Given the description of an element on the screen output the (x, y) to click on. 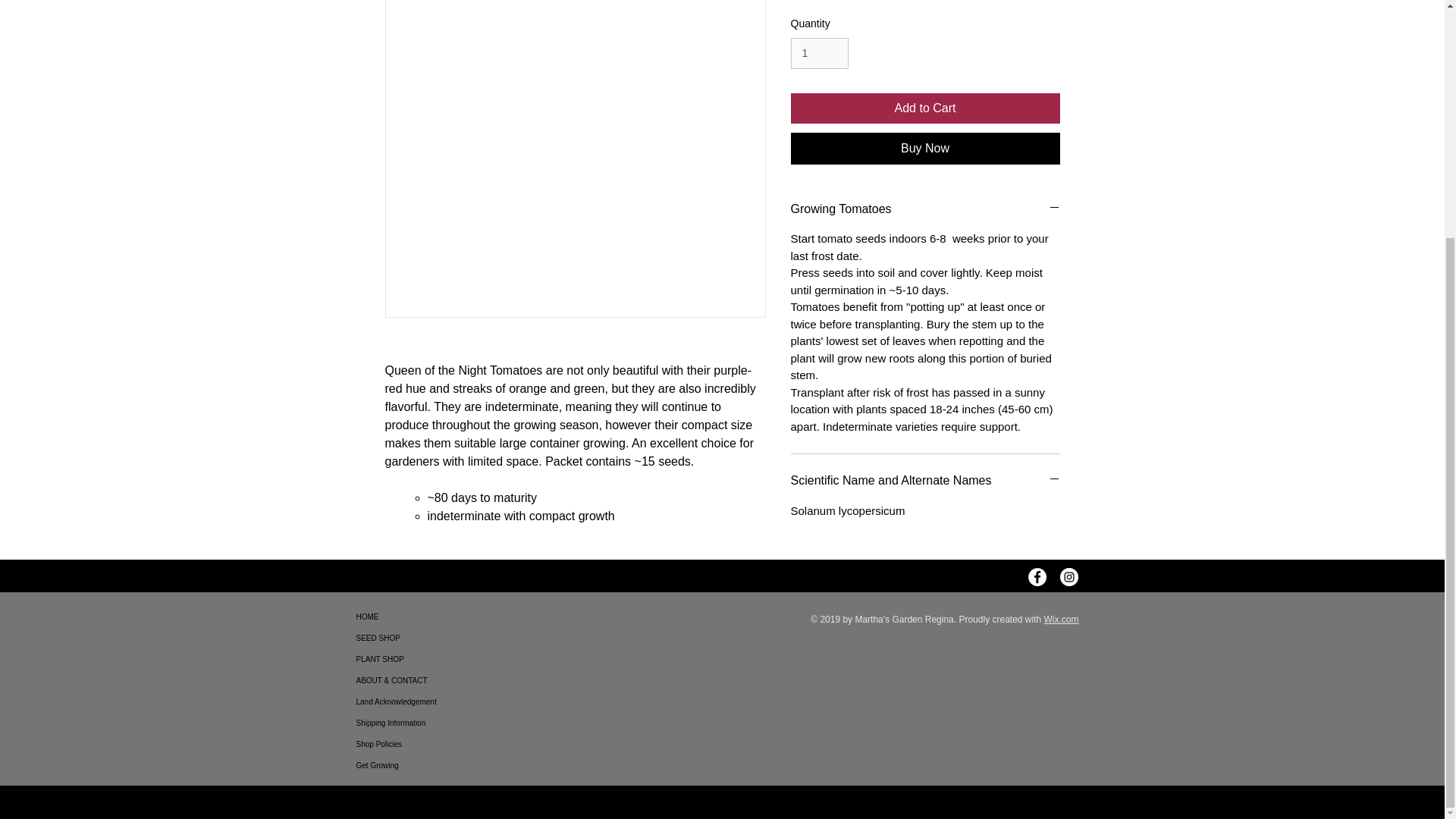
Wix.com (1060, 619)
Add to Cart (924, 108)
Get Growing (409, 765)
Shipping Information (409, 722)
Buy Now (924, 148)
Scientific Name and Alternate Names (924, 480)
Land Acknowledgement (409, 701)
PLANT SHOP (409, 659)
1 (818, 52)
Growing Tomatoes (924, 208)
HOME (409, 617)
SEED SHOP (409, 638)
Shop Policies (409, 744)
